Given the description of an element on the screen output the (x, y) to click on. 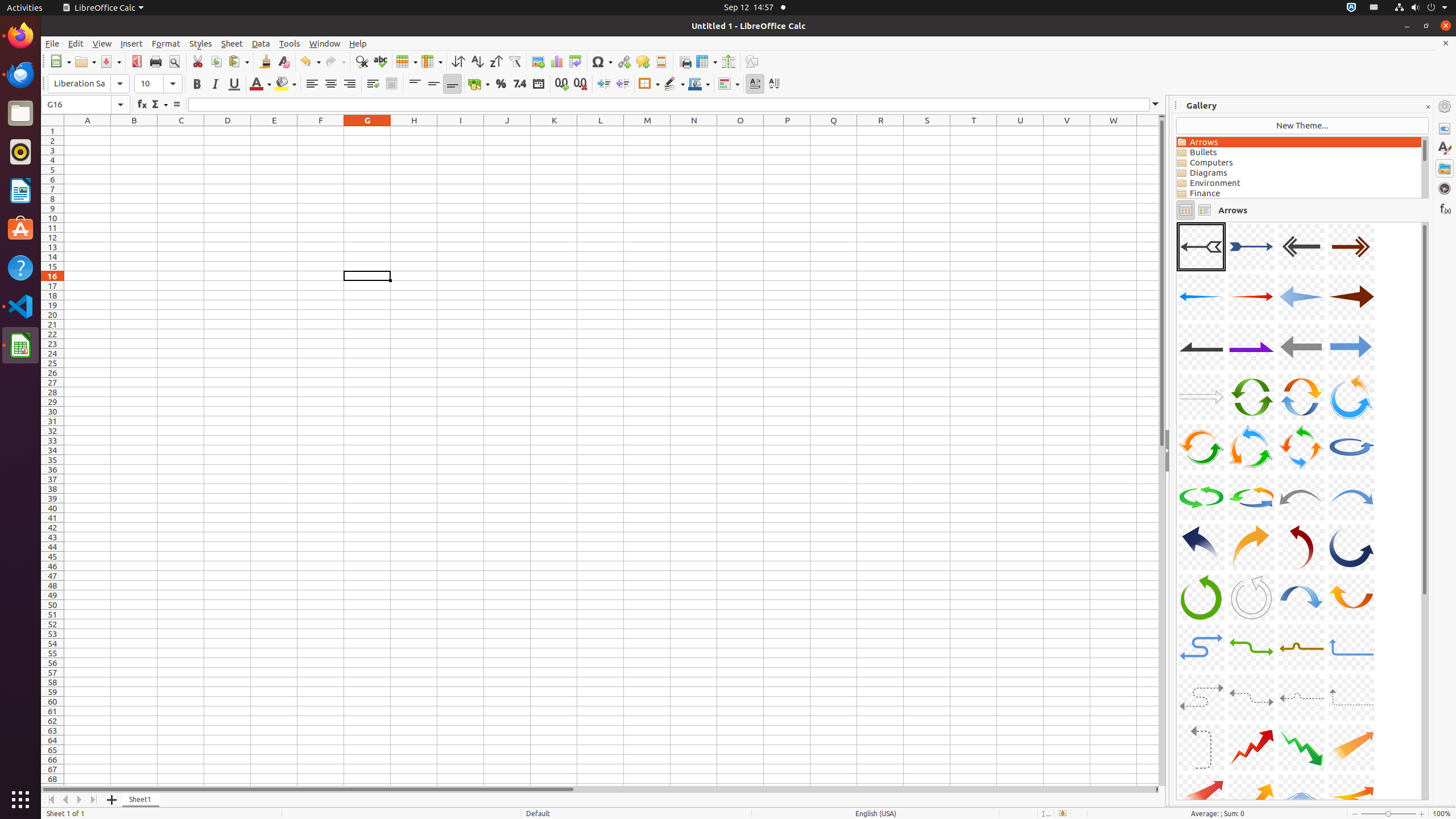
Cut Element type: push-button (197, 61)
Clear Element type: push-button (283, 61)
A14-CircleArrow-Green Element type: list-item (1250, 396)
Functions Element type: radio-button (1444, 208)
Diagrams Element type: list-item (1298, 172)
